Given the description of an element on the screen output the (x, y) to click on. 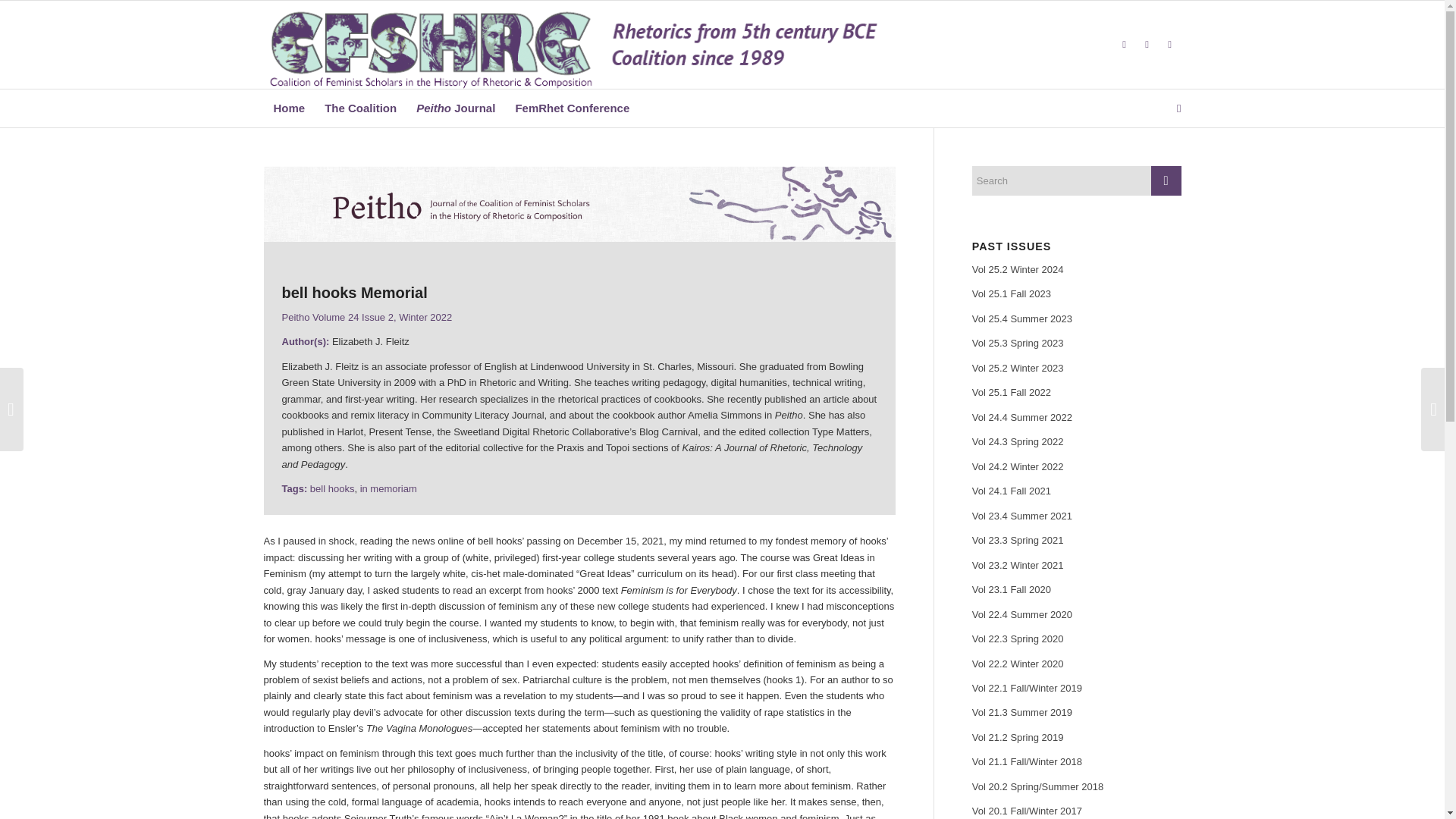
bell hooks (332, 488)
Peitho Journal (455, 108)
X (1124, 44)
Peitho Volume 24 Issue 2, Winter 2022 (367, 317)
Home (289, 108)
The Coalition (360, 108)
FemRhet Conference (572, 108)
in memoriam (387, 488)
Vimeo (1169, 44)
Facebook (1146, 44)
